Given the description of an element on the screen output the (x, y) to click on. 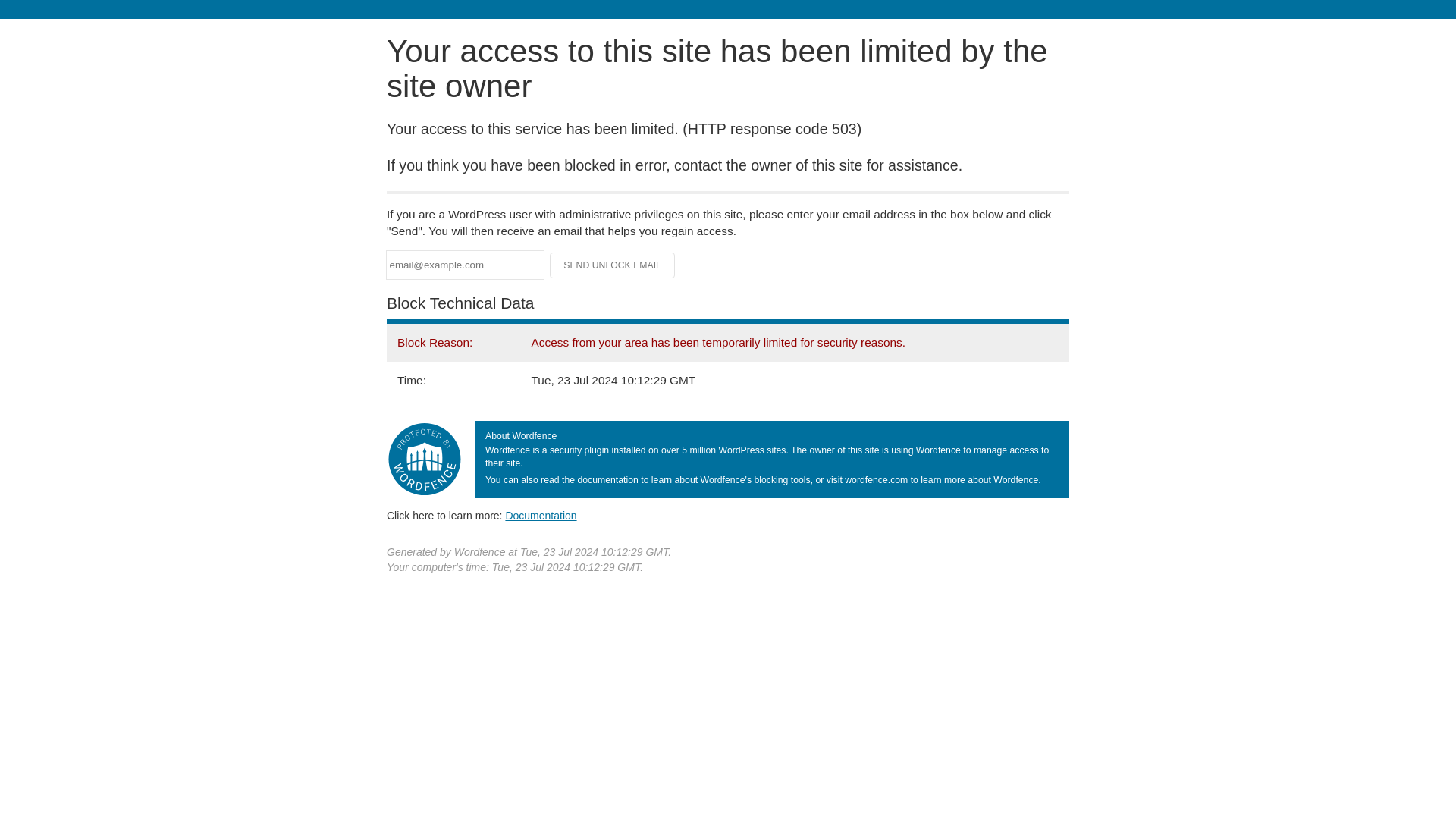
Send Unlock Email (612, 265)
Documentation (540, 515)
Send Unlock Email (612, 265)
